Given the description of an element on the screen output the (x, y) to click on. 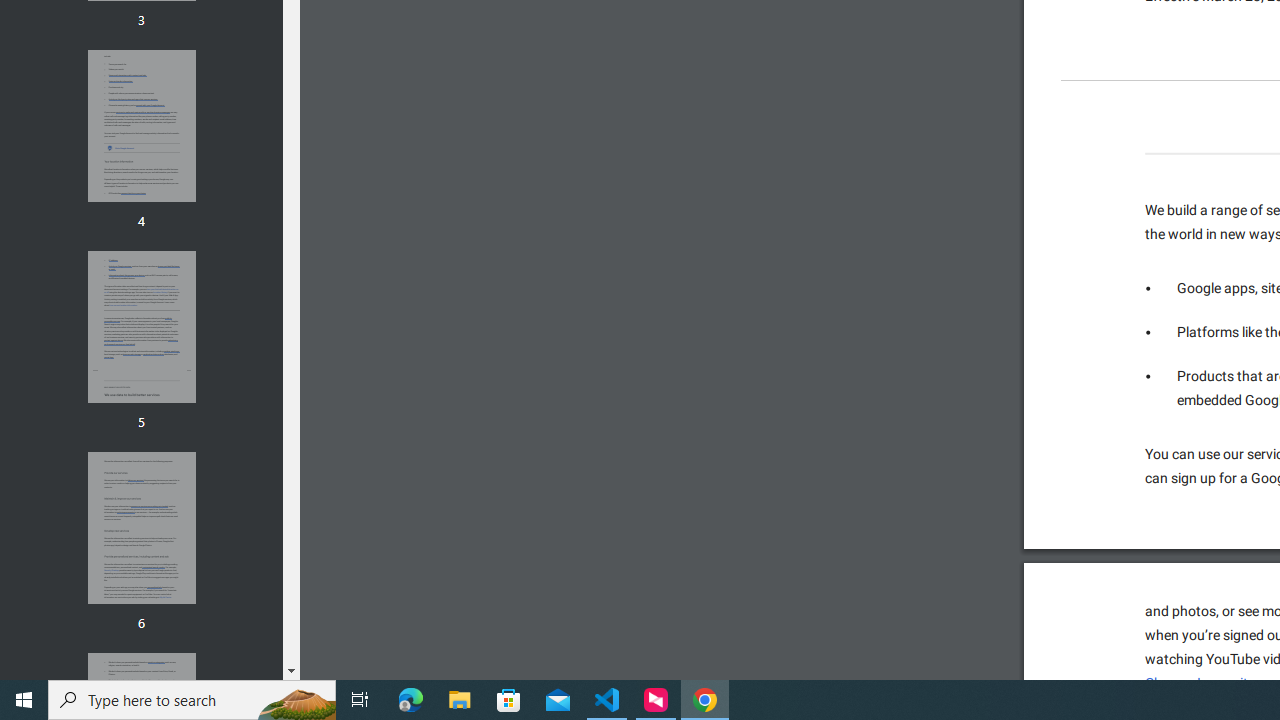
Thumbnail for page 6 (141, 528)
Thumbnail for page 4 (141, 125)
AutomationID: thumbnail (141, 528)
Thumbnail for page 5 (141, 326)
Chrome Incognito (1200, 683)
